Given the description of an element on the screen output the (x, y) to click on. 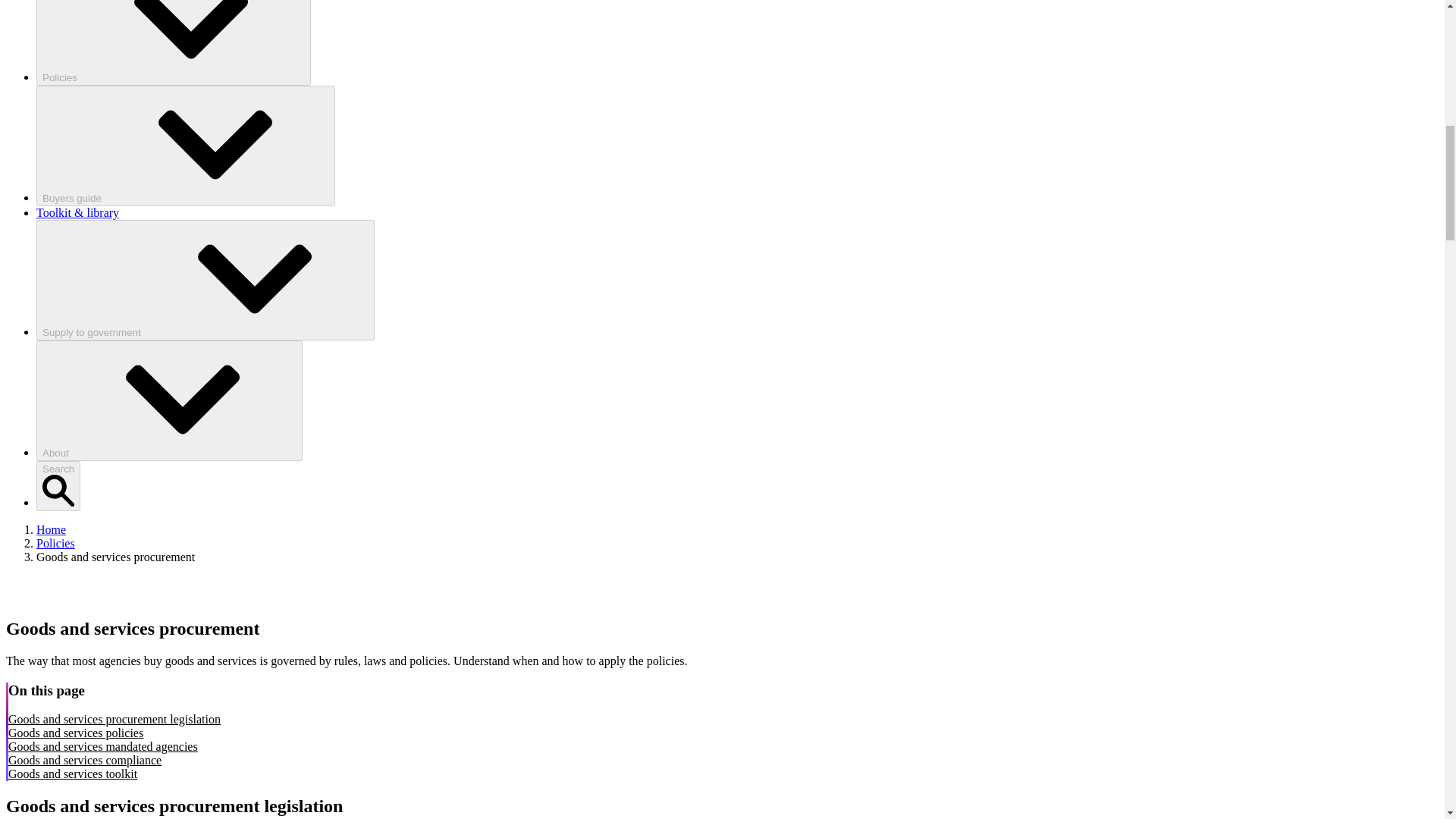
Policies (55, 543)
Goods and services procurement legislation (114, 718)
Goods and services mandated agencies (103, 746)
Goods and services toolkit (72, 773)
Goods and services compliance (84, 759)
Goods and services policies (75, 732)
Home (50, 529)
